Given the description of an element on the screen output the (x, y) to click on. 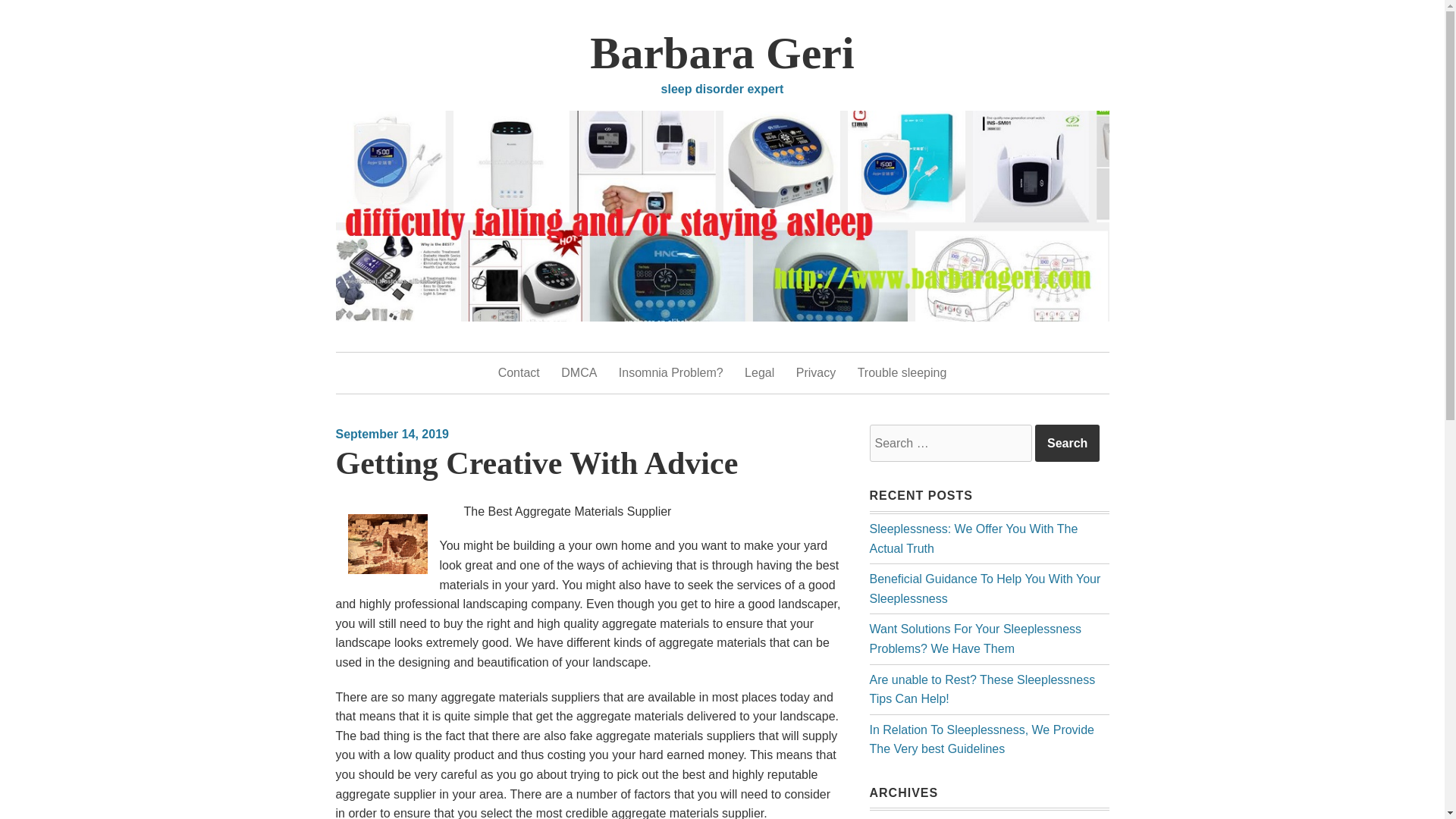
Beneficial Guidance To Help You With Your Sleeplessness (984, 588)
September 14, 2019 (391, 433)
DMCA (578, 373)
Barbara Geri (721, 52)
Are unable to Rest? These Sleeplessness Tips Can Help! (981, 689)
Want Solutions For Your Sleeplessness Problems? We Have Them (975, 638)
Trouble sleeping (902, 373)
Insomnia Problem? (670, 373)
Privacy (815, 373)
Search (1067, 443)
Sleeplessness: We Offer You With The Actual Truth (973, 538)
Search (1067, 443)
Contact (518, 373)
Legal (759, 373)
